Given the description of an element on the screen output the (x, y) to click on. 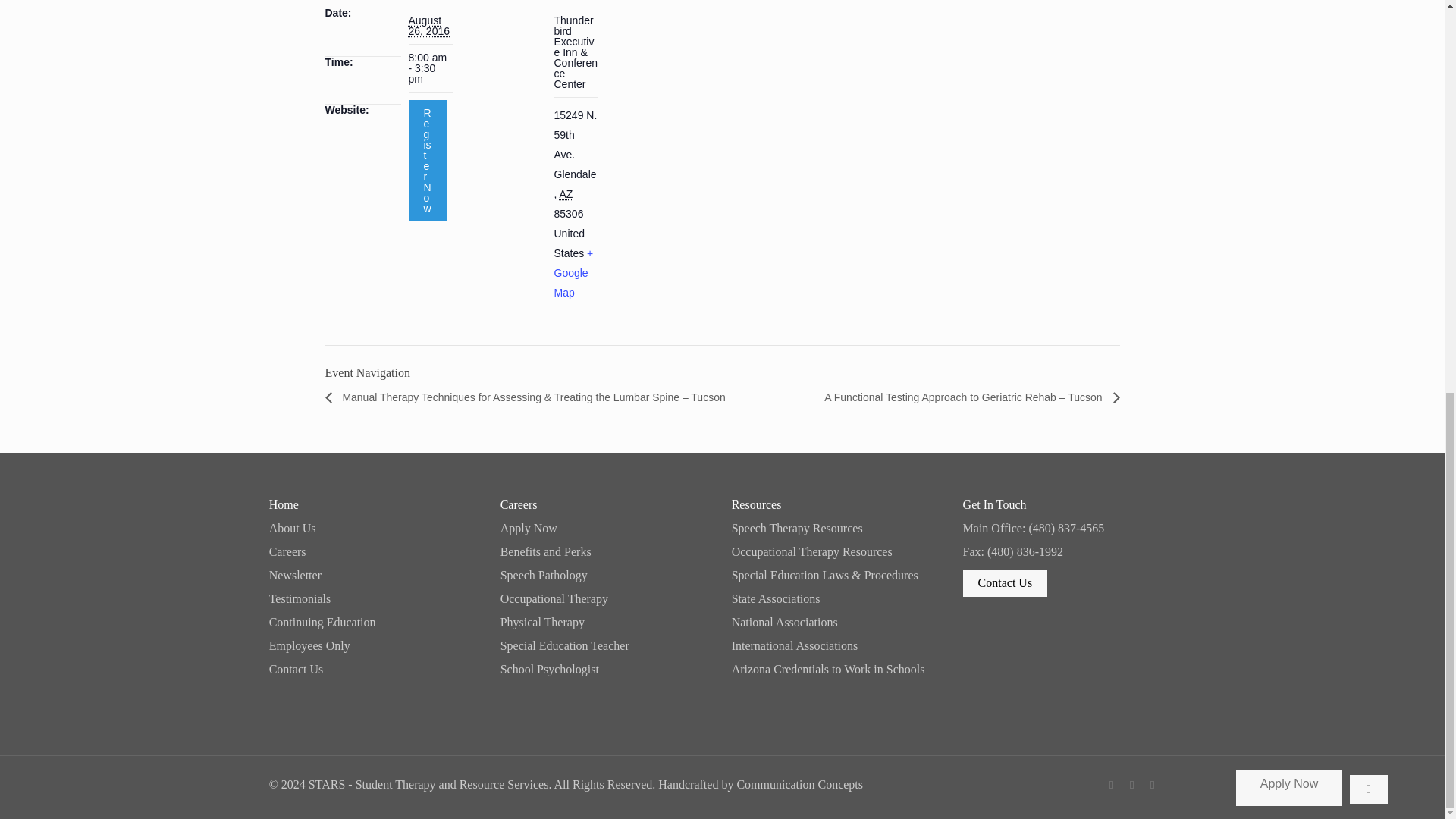
Twitter (1132, 784)
Facebook (1111, 784)
Employees Only (375, 645)
Newsletter (375, 575)
Arizona (566, 193)
2016-08-26 (428, 25)
Home (375, 504)
Testimonials (375, 598)
2016-08-26 (429, 68)
About Us (375, 528)
